Given the description of an element on the screen output the (x, y) to click on. 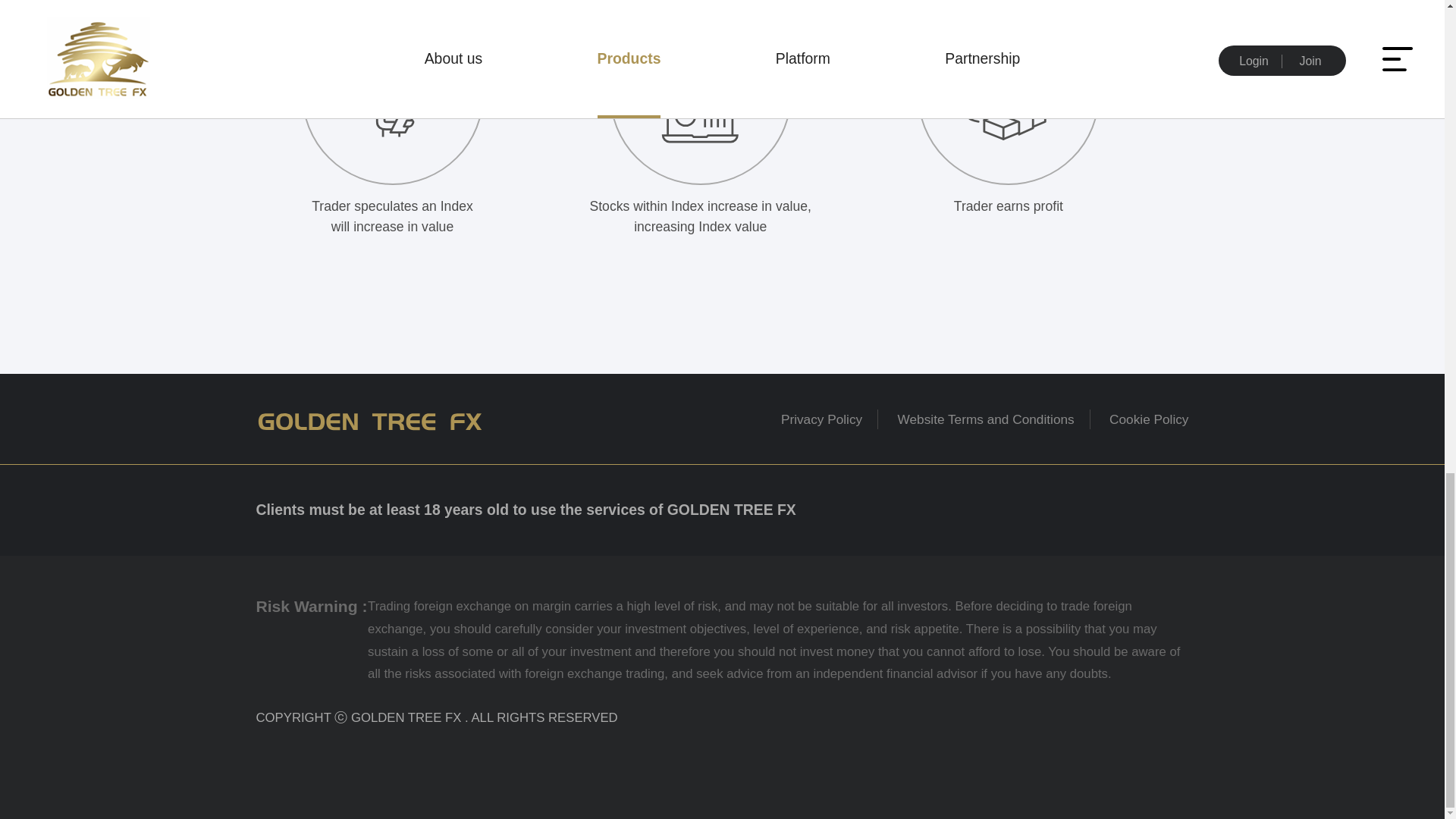
Website Terms and Conditions (986, 419)
Privacy Policy (821, 419)
